Given the description of an element on the screen output the (x, y) to click on. 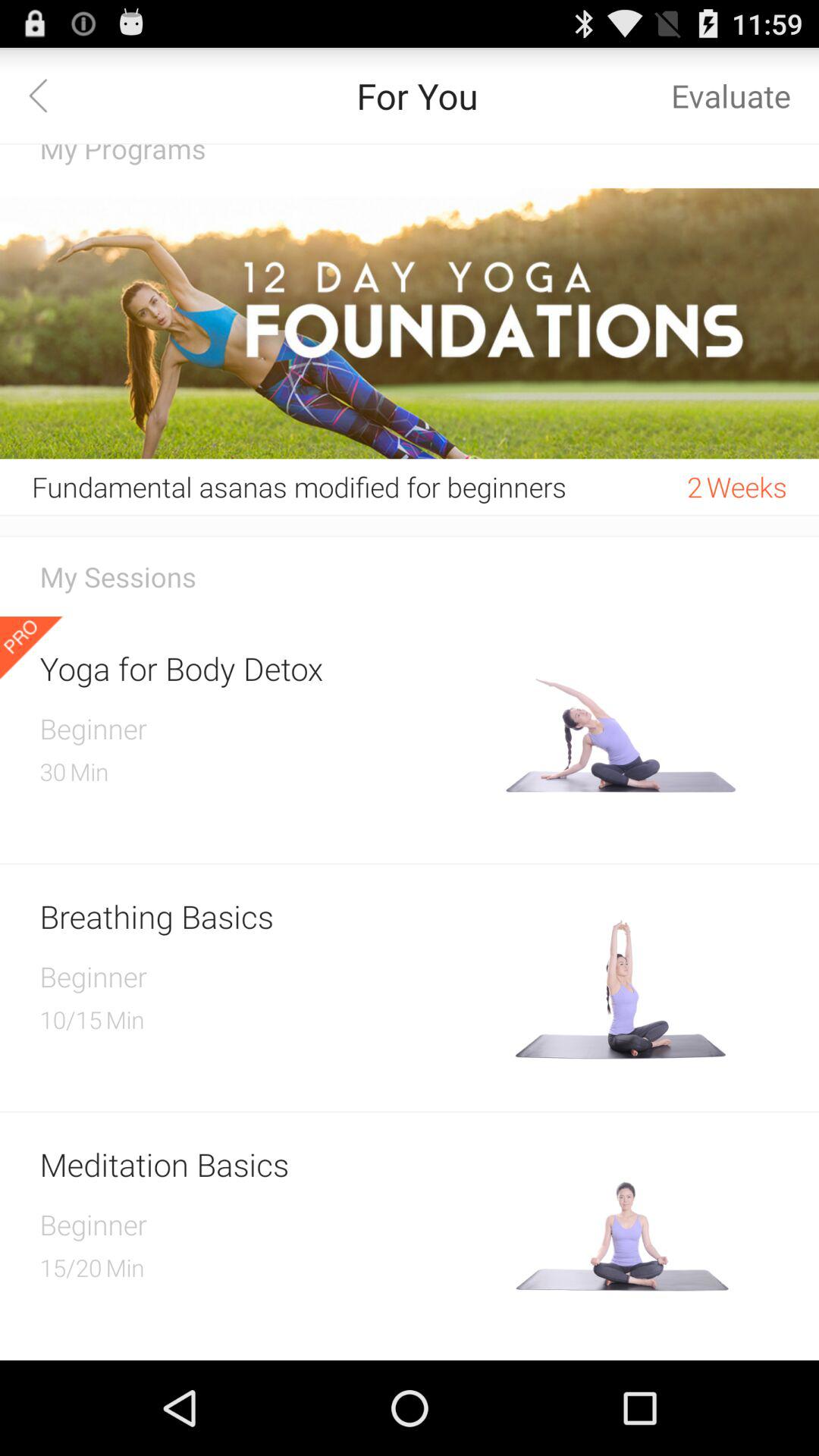
open the icon to the left of the weeks (694, 486)
